Given the description of an element on the screen output the (x, y) to click on. 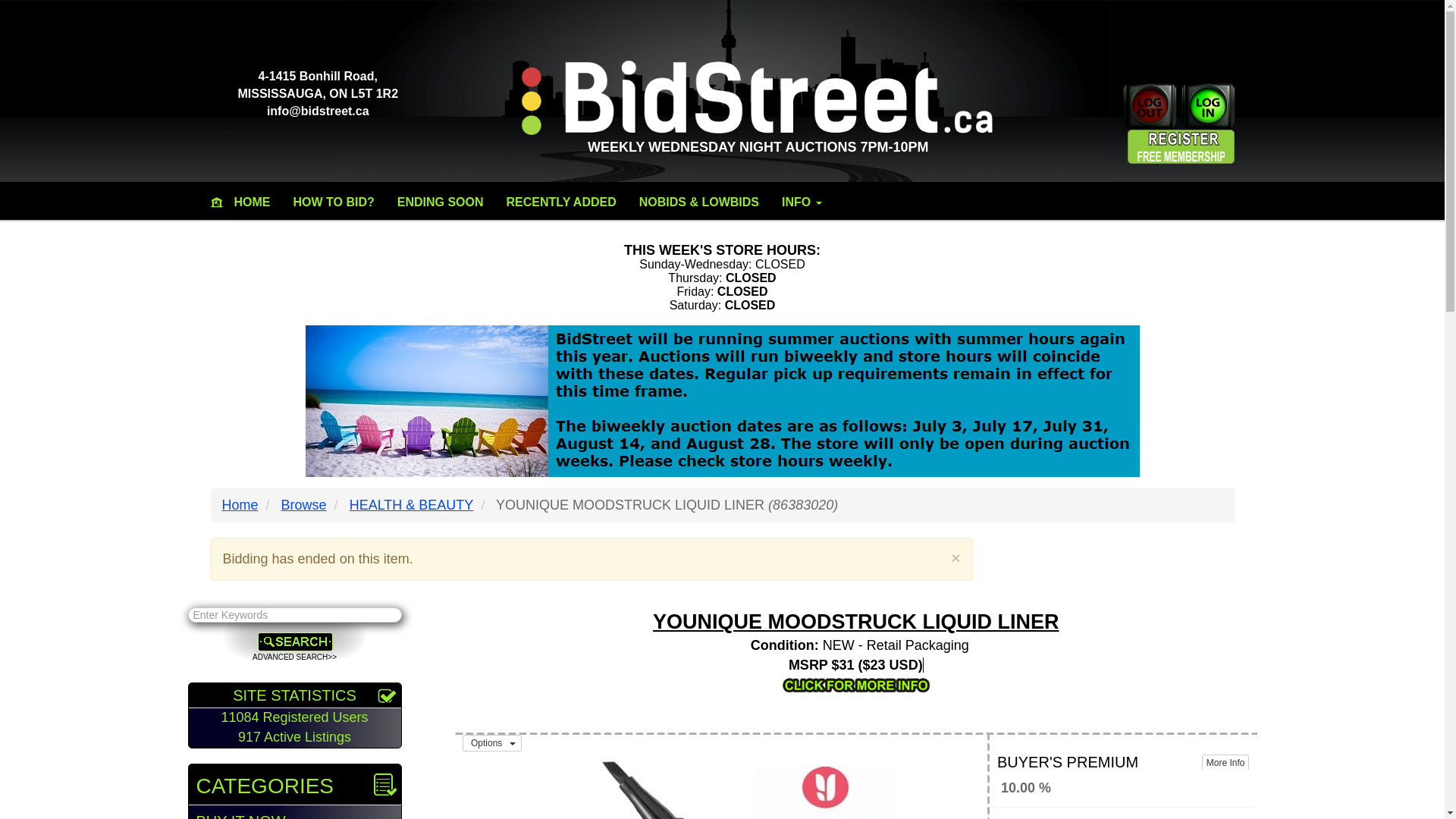
Register (1187, 144)
INFO (801, 202)
Sign In (1205, 106)
RECENTLY ADDED (561, 202)
ADVANCED SEARCH (294, 656)
HOME (252, 202)
Search (294, 640)
ENDING SOON (440, 202)
BUY IT NOW (293, 812)
Browse (303, 504)
Home (239, 504)
HOW TO BID? (333, 202)
Search (294, 640)
